Given the description of an element on the screen output the (x, y) to click on. 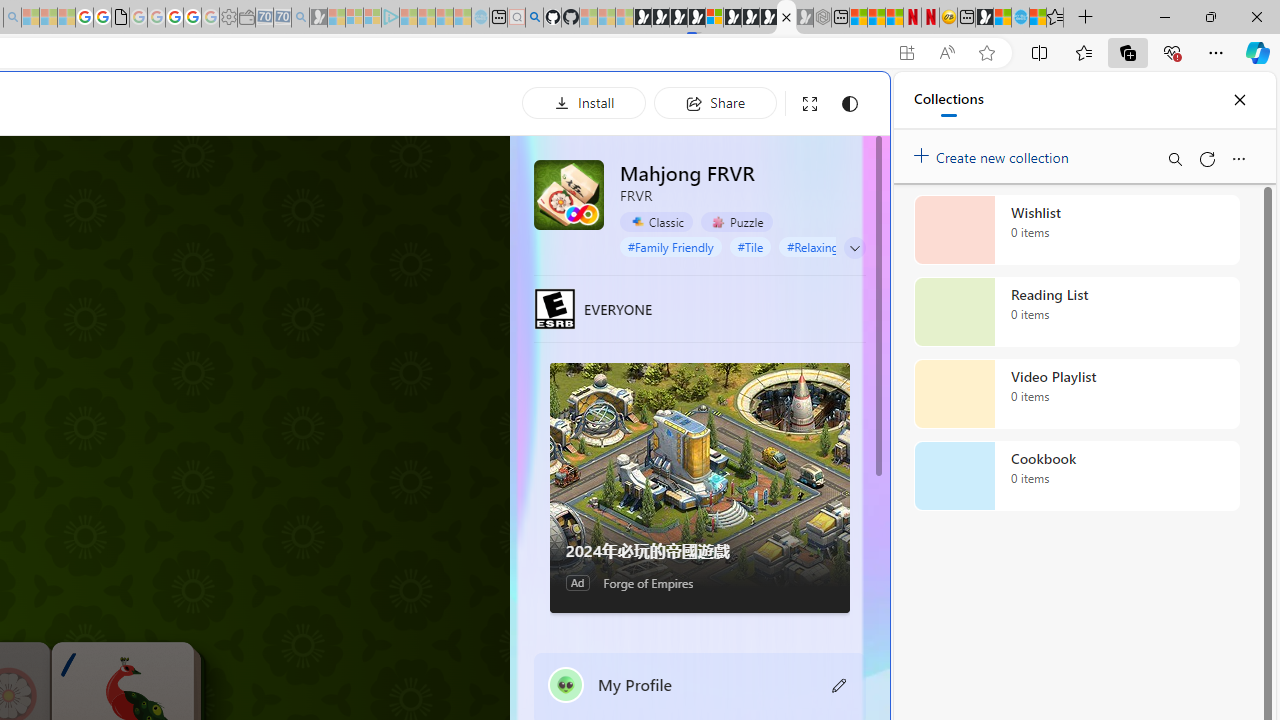
#Family Friendly (670, 246)
Tabs you've opened (276, 265)
